Given the description of an element on the screen output the (x, y) to click on. 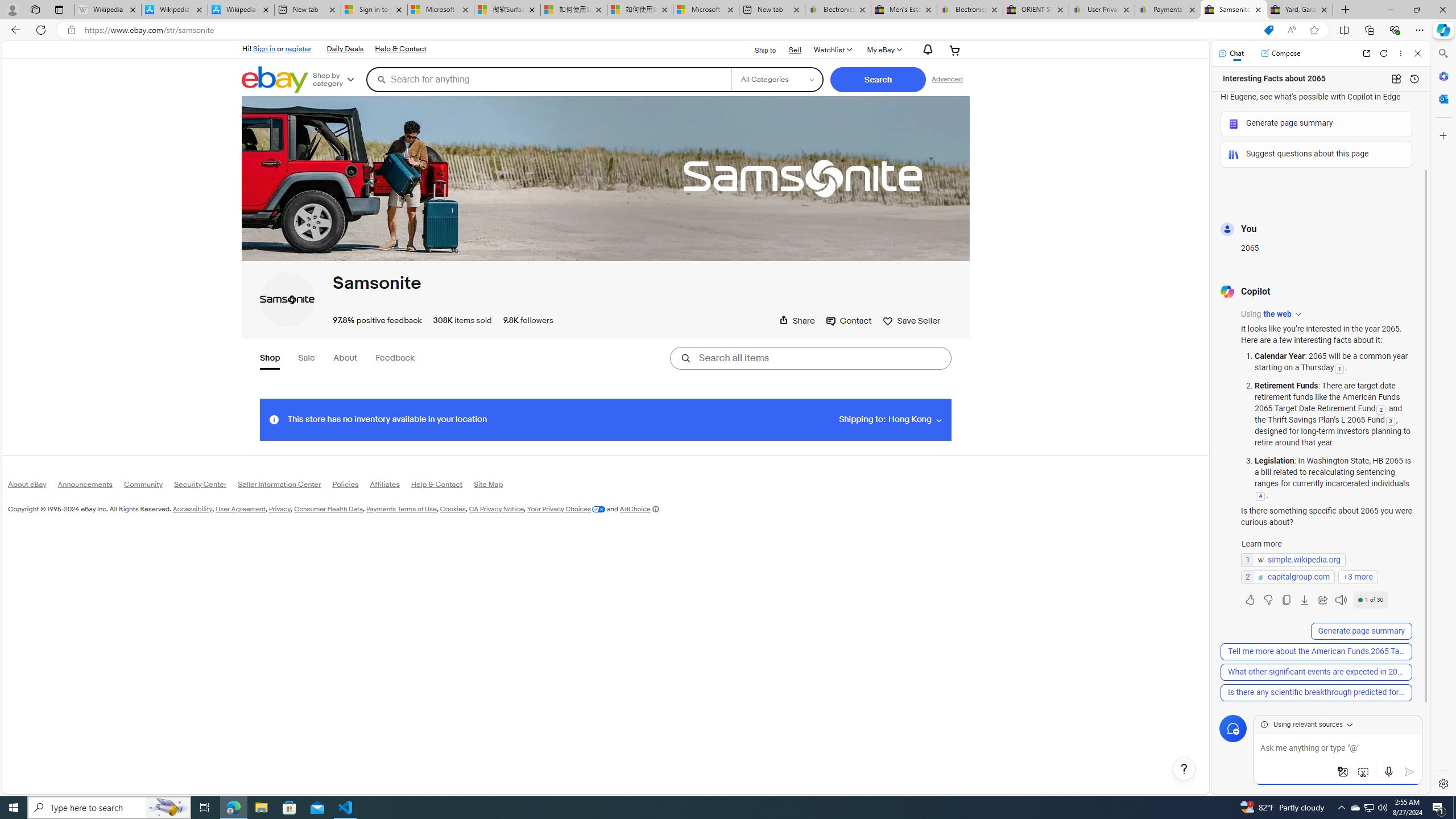
Help, opens dialogs (1184, 768)
AutomationID: gh-eb-Alerts (926, 49)
Shop (270, 359)
CA Privacy Notice (496, 508)
Cookies (452, 508)
Microsoft account | Account Checkup (706, 9)
About (345, 358)
Shipping to:Hong Kong (890, 418)
Sell (794, 49)
Expand Cart (955, 49)
Advanced Search (947, 78)
Save Seller (911, 320)
